Given the description of an element on the screen output the (x, y) to click on. 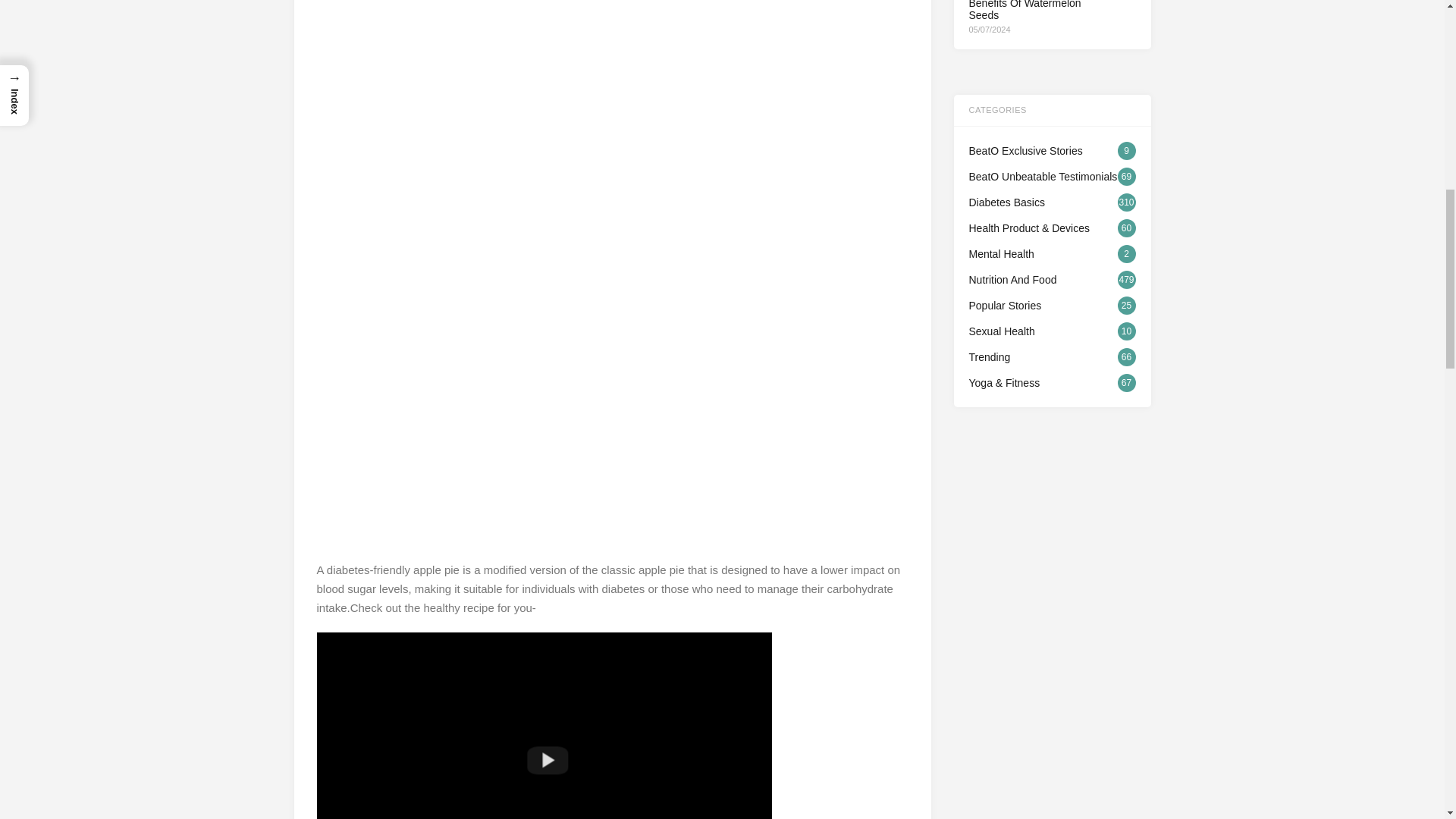
View all posts in BeatO Exclusive Stories (1052, 150)
View all posts in BeatO Unbeatable Testimonials (1052, 176)
View all posts in Diabetes Basics (1052, 202)
